Given the description of an element on the screen output the (x, y) to click on. 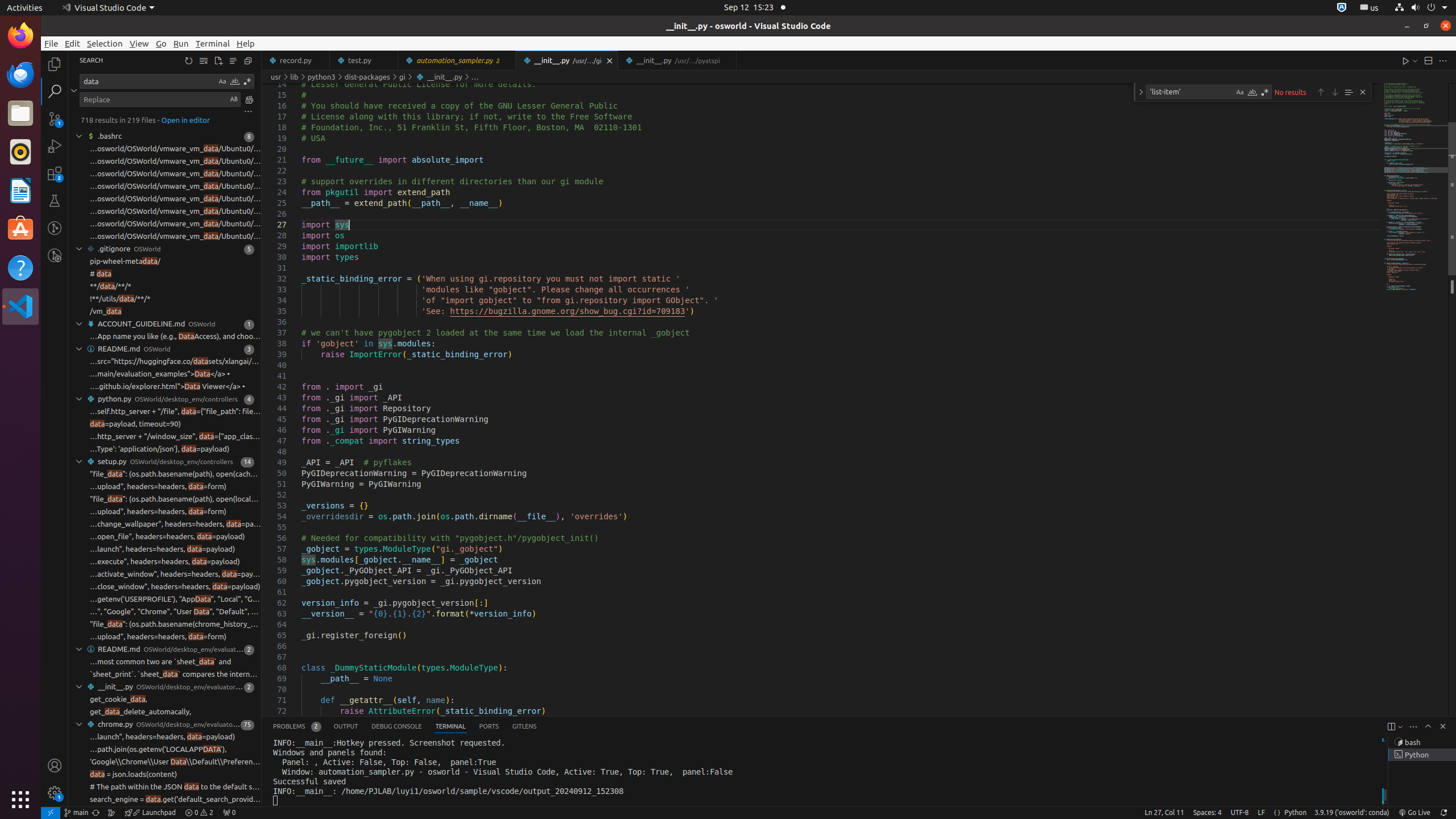
GitLens Element type: page-tab (524, 726)
'alias vmlog='vmrun -gu user -gp password copyFileFromGuestToHost "/home/PJLAB/luyi1/osworld/OSWorld/vmware_vm_data/Ubuntu0/Ubuntu0.vmx" "/home/user/vm.log" "/home/PJLAB/luyi1/osworld/OSWorld/pylog/vm_test.log"'' at column 111 found data Element type: tree-item (164, 160)
"file_data": (os.path.basename(path), open(local_path, "rb")) Element type: link (175, 498)
Terminal 1 bash Element type: list-item (1422, 741)
…self.http_server + "/file", data={"file_path": file_path}) Element type: link (175, 411)
